Given the description of an element on the screen output the (x, y) to click on. 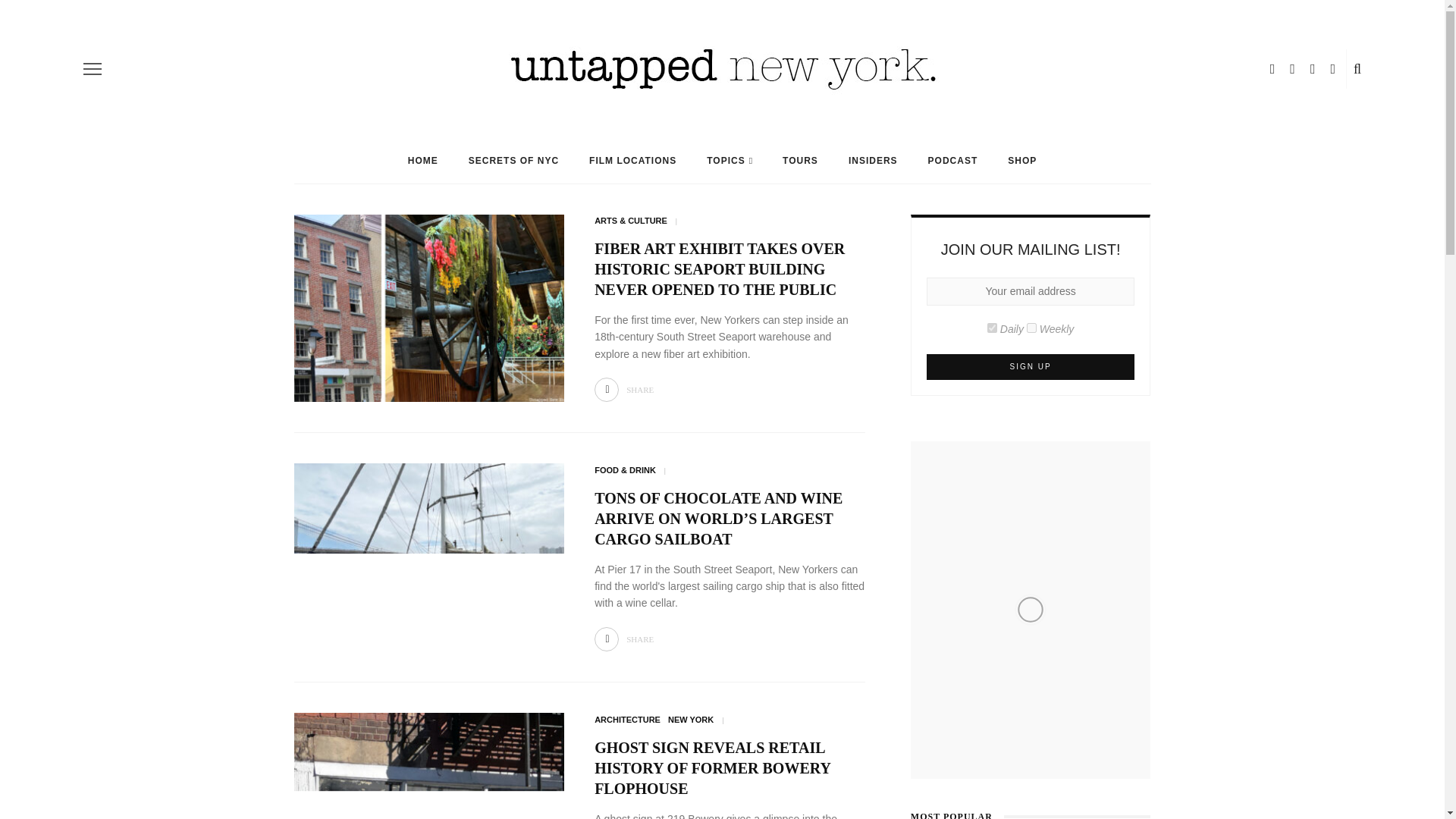
e99a09560c (992, 327)
off canvas button (91, 68)
7cff6a70fd (1031, 327)
Sign up (1030, 366)
